Given the description of an element on the screen output the (x, y) to click on. 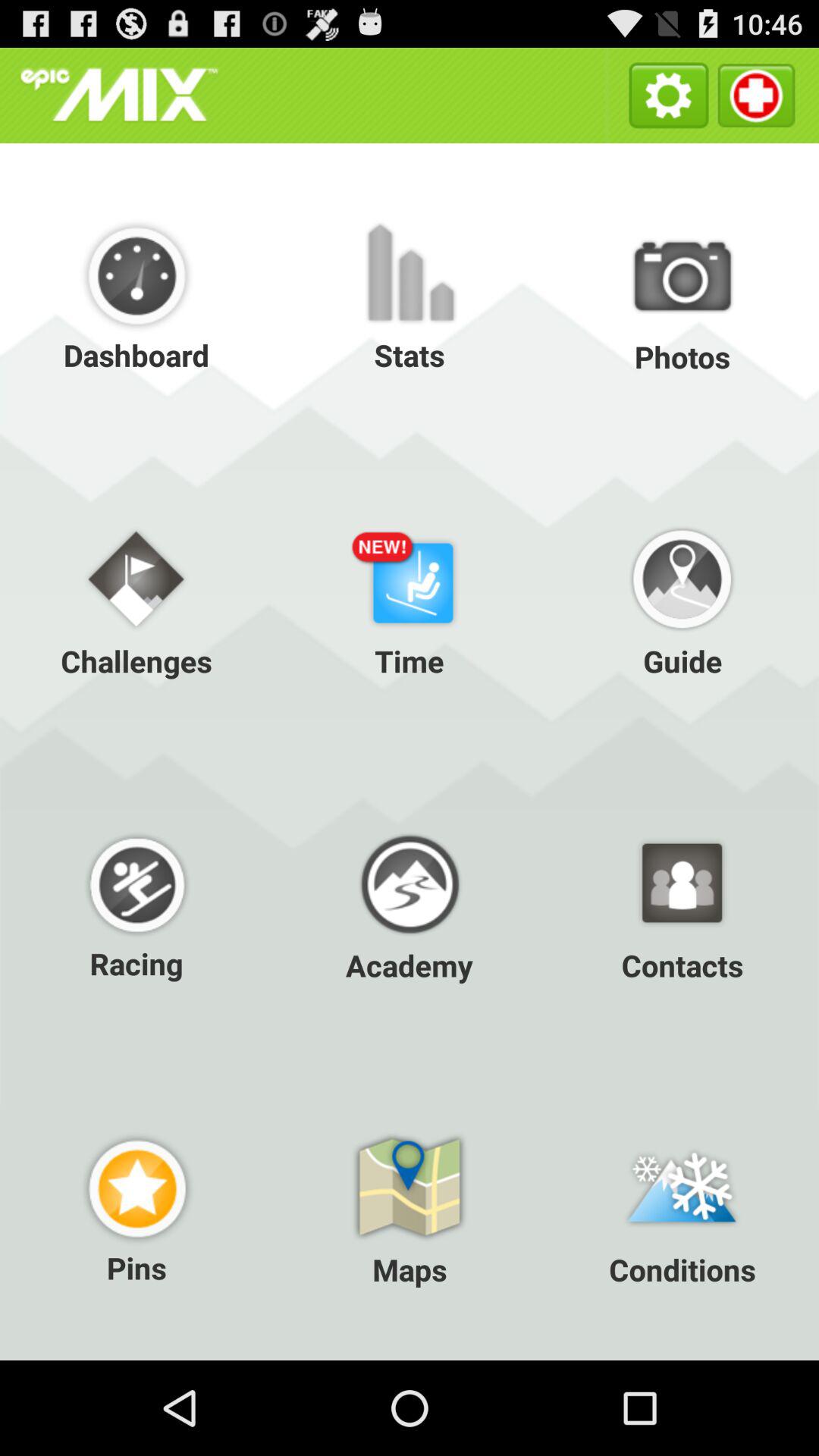
scroll to contacts button (682, 903)
